Given the description of an element on the screen output the (x, y) to click on. 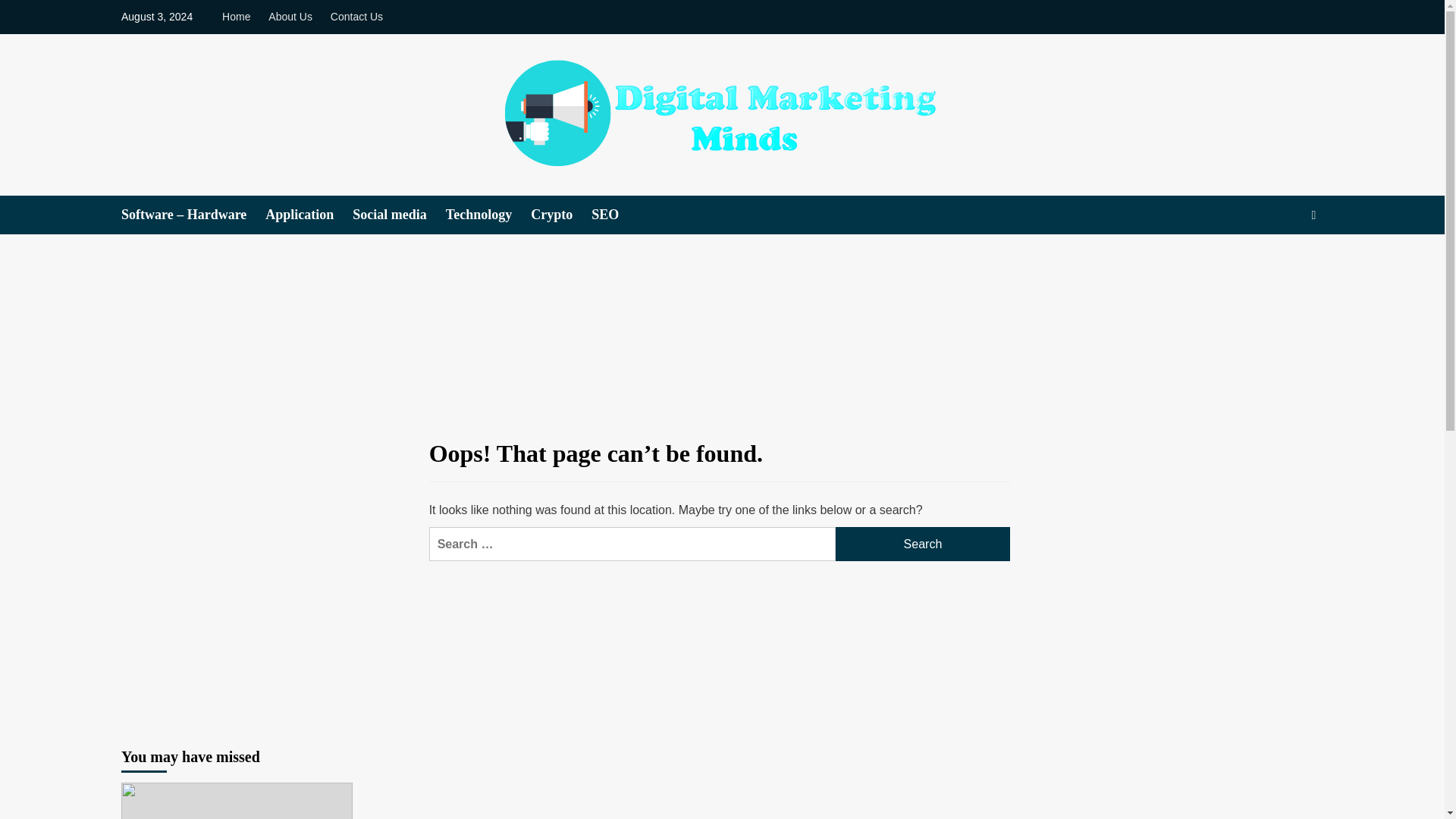
Application (308, 214)
Search (922, 544)
Search (922, 544)
Home (239, 17)
Contact Us (356, 17)
SEO (614, 214)
Crypto (561, 214)
Social media (398, 214)
Technology (488, 214)
Search (1278, 261)
Search (922, 544)
About Us (290, 17)
